Given the description of an element on the screen output the (x, y) to click on. 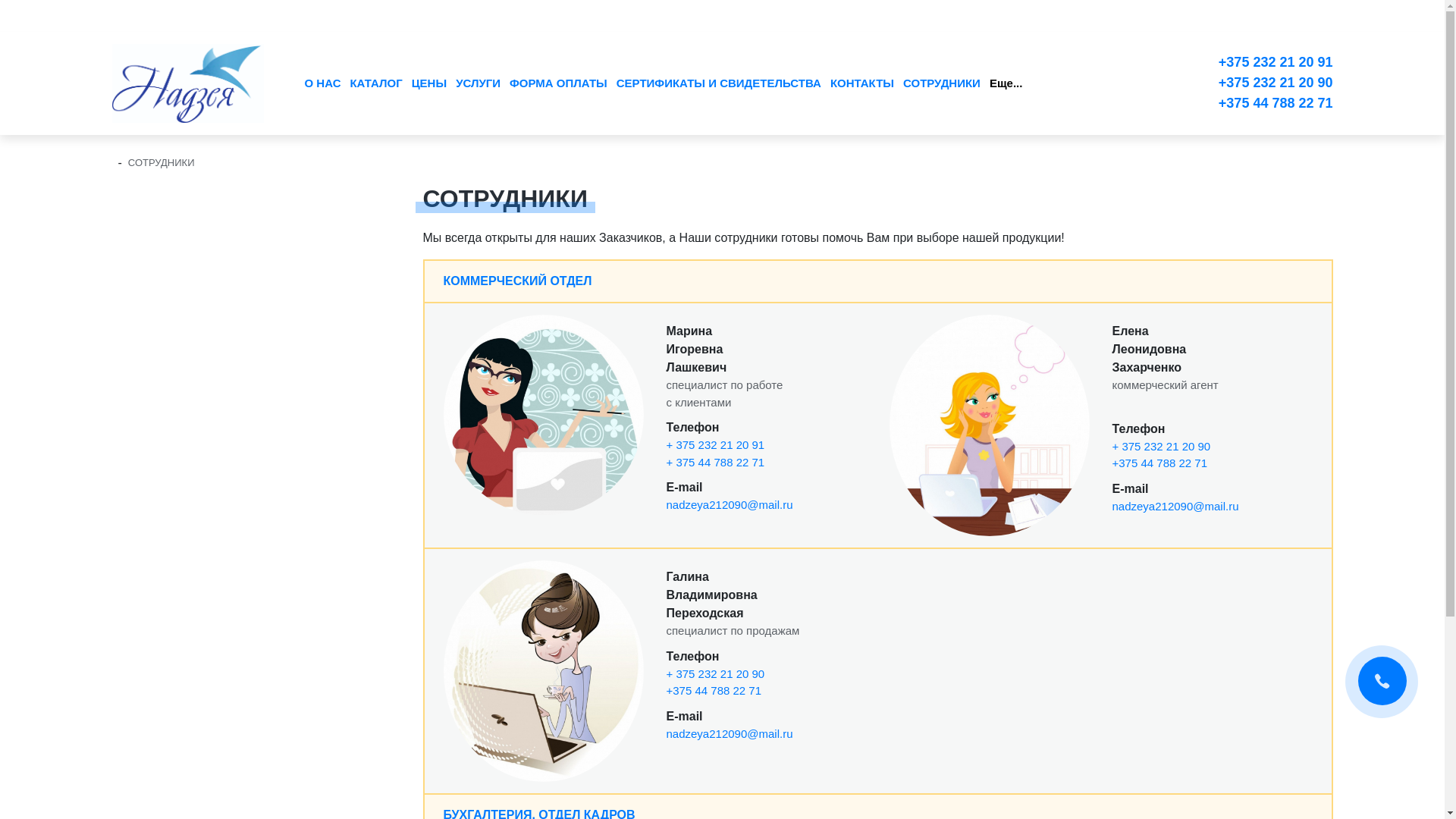
+ 375 232 21 20 91
+ 375 44 788 22 71 Element type: text (714, 453)
nadzeya212090@mail.ru Element type: text (728, 504)
+ 375 232 21 20 90
+375 44 788 22 71 Element type: text (714, 682)
nadzeya212090@mail.ru Element type: text (728, 733)
+ 375 232 21 20 90
+375 44 788 22 71 Element type: text (1160, 454)
nadzeya212090@mail.ru Element type: text (1174, 505)
